Given the description of an element on the screen output the (x, y) to click on. 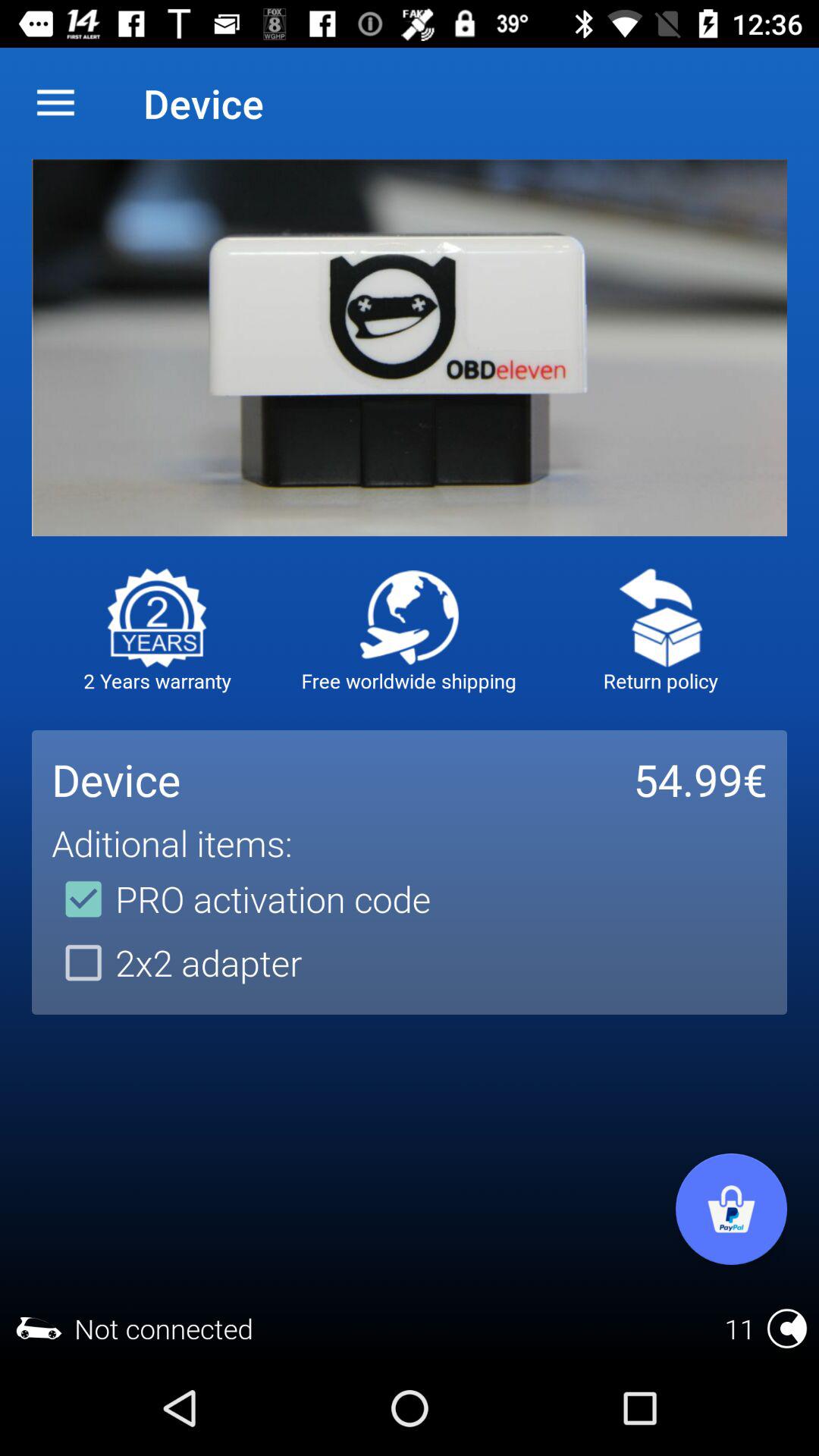
select the pro activation code item (241, 899)
